Given the description of an element on the screen output the (x, y) to click on. 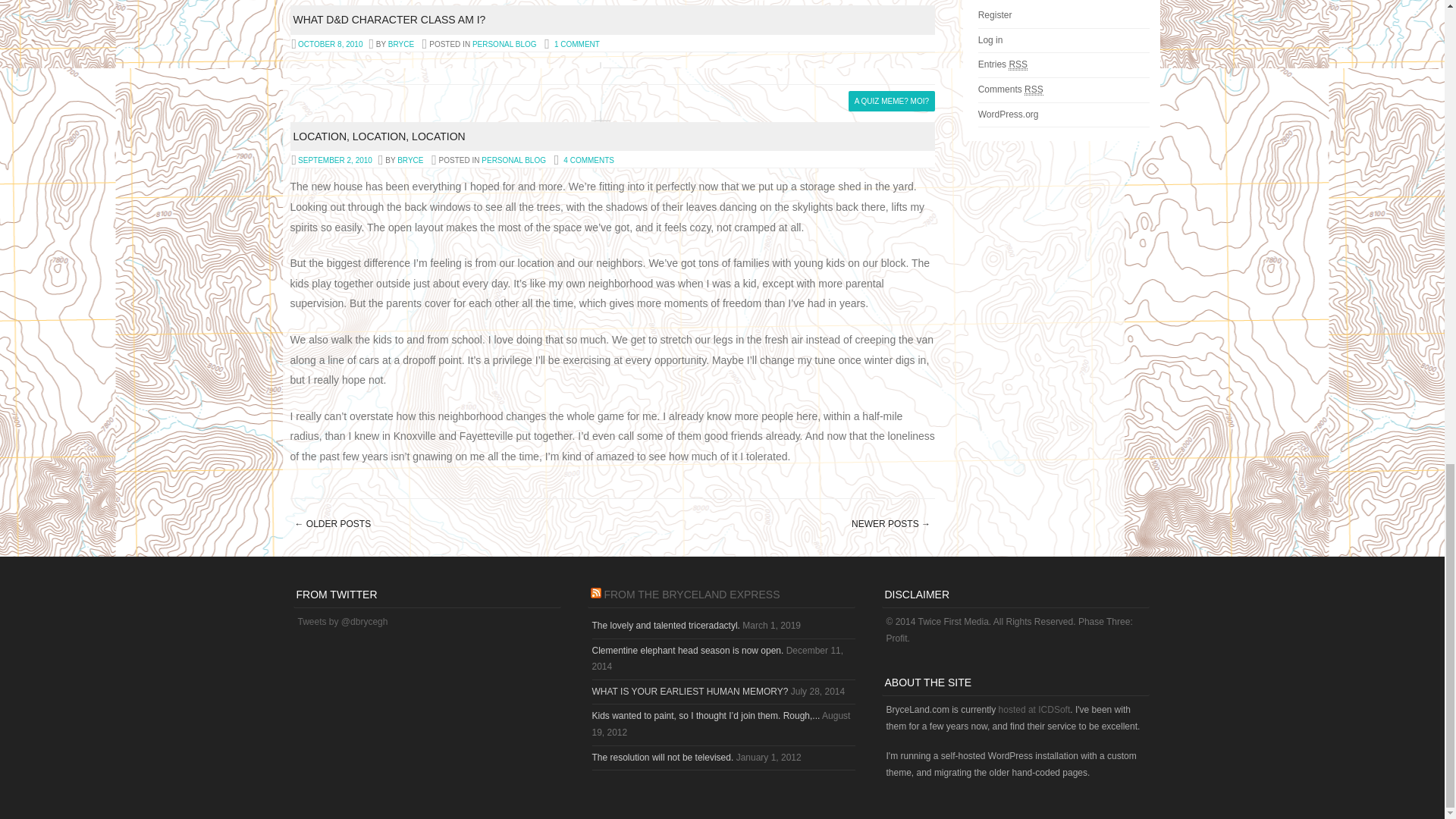
View all posts by Bryce (400, 44)
10:37 am (329, 44)
Permalink to Location, Location, Location (378, 136)
OCTOBER 8, 2010 (329, 44)
PERSONAL BLOG (504, 44)
LOCATION, LOCATION, LOCATION (378, 136)
BRYCE (400, 44)
A QUIZ MEME? MOI? (891, 100)
1 COMMENT (576, 44)
